Given the description of an element on the screen output the (x, y) to click on. 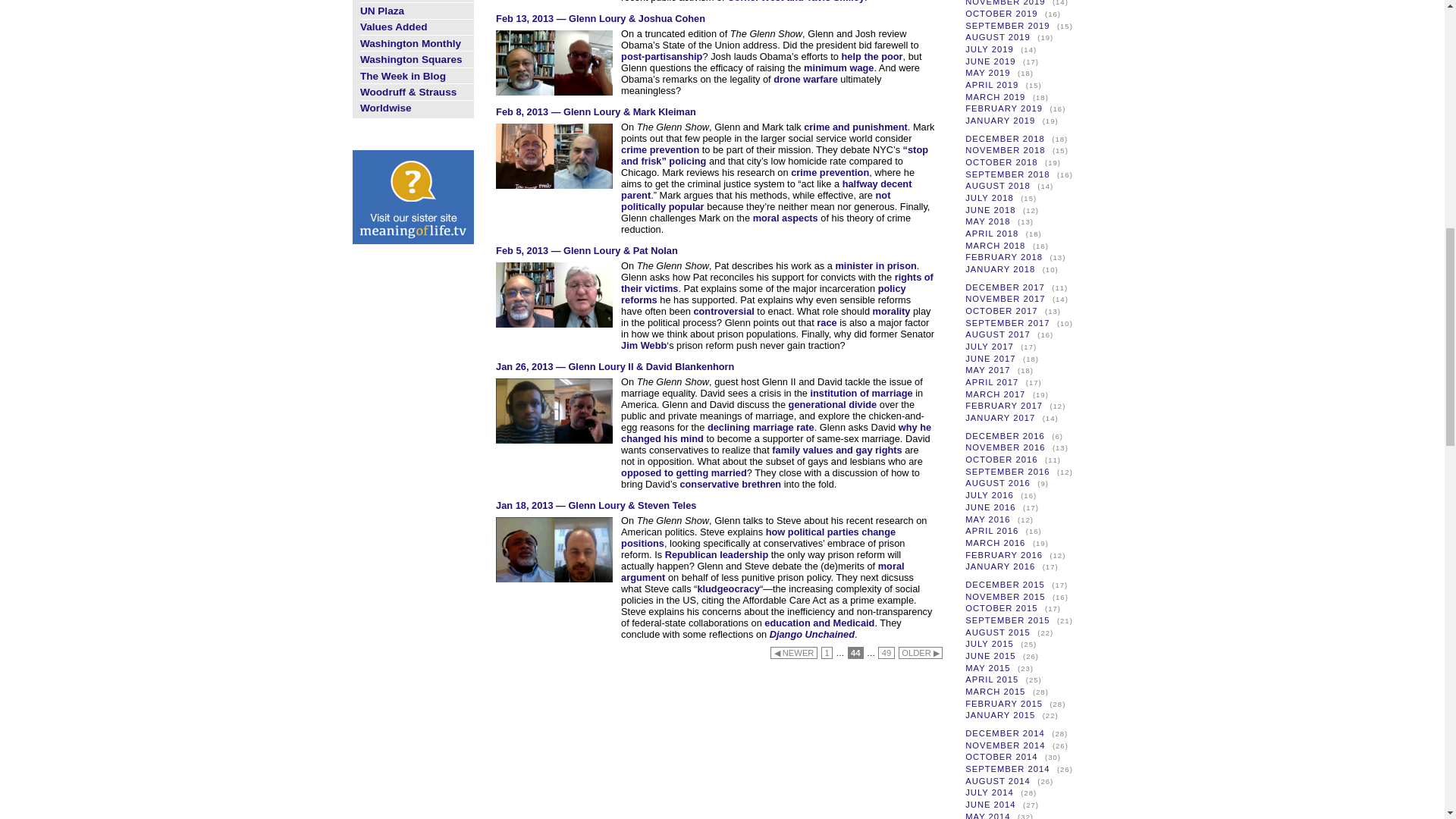
UN Plaza (381, 10)
